Given the description of an element on the screen output the (x, y) to click on. 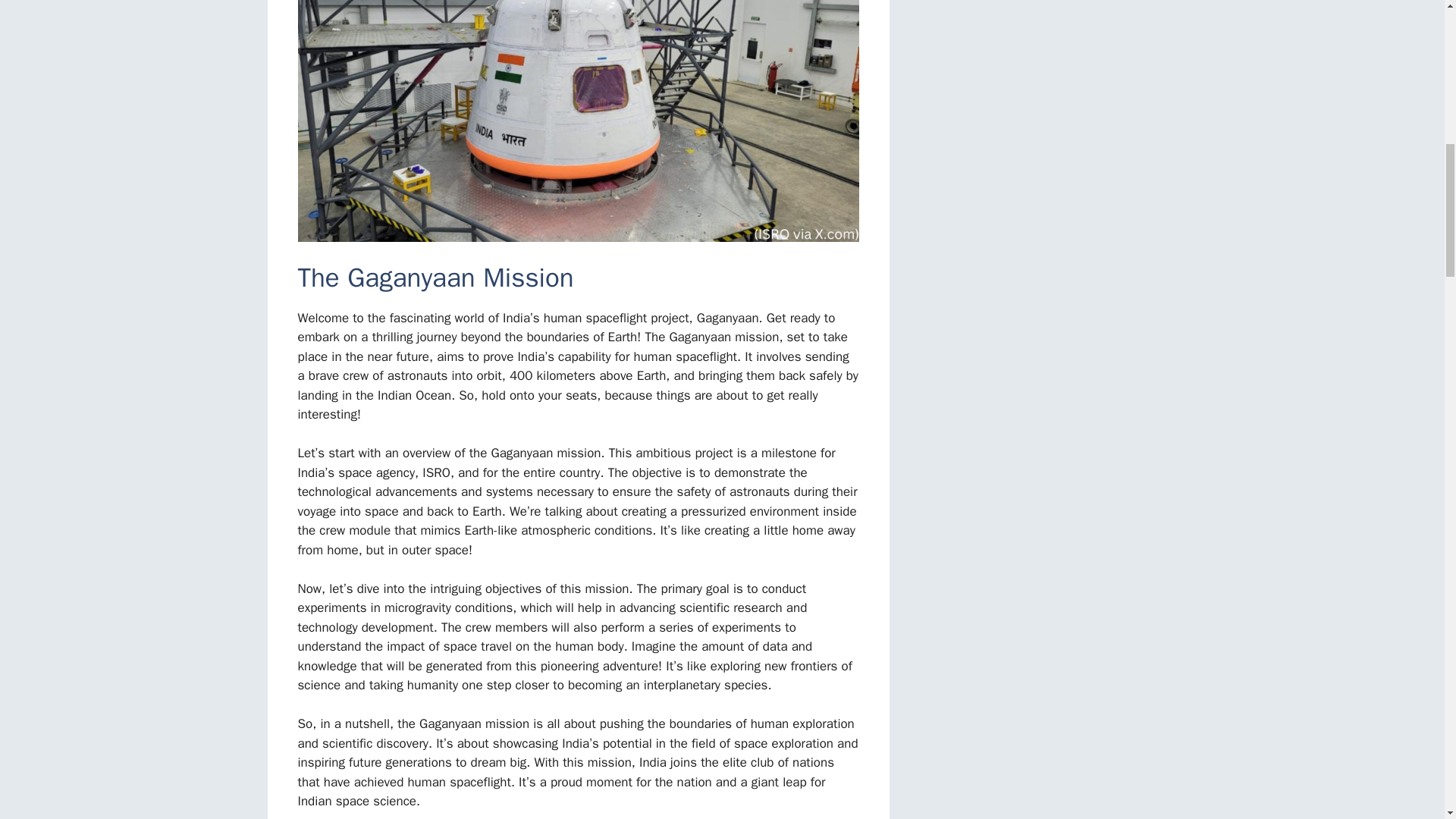
Scroll back to top (1406, 720)
